Given the description of an element on the screen output the (x, y) to click on. 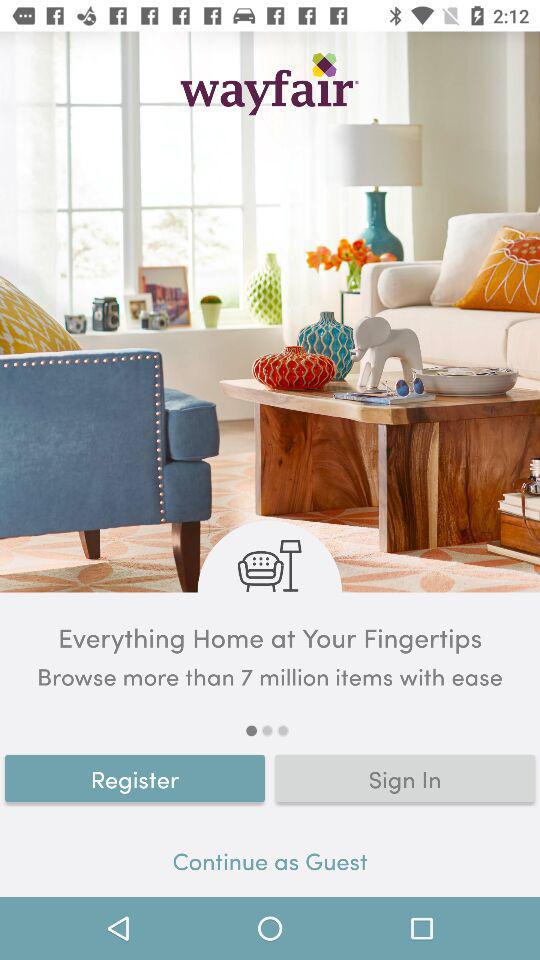
turn off the register item (135, 778)
